Given the description of an element on the screen output the (x, y) to click on. 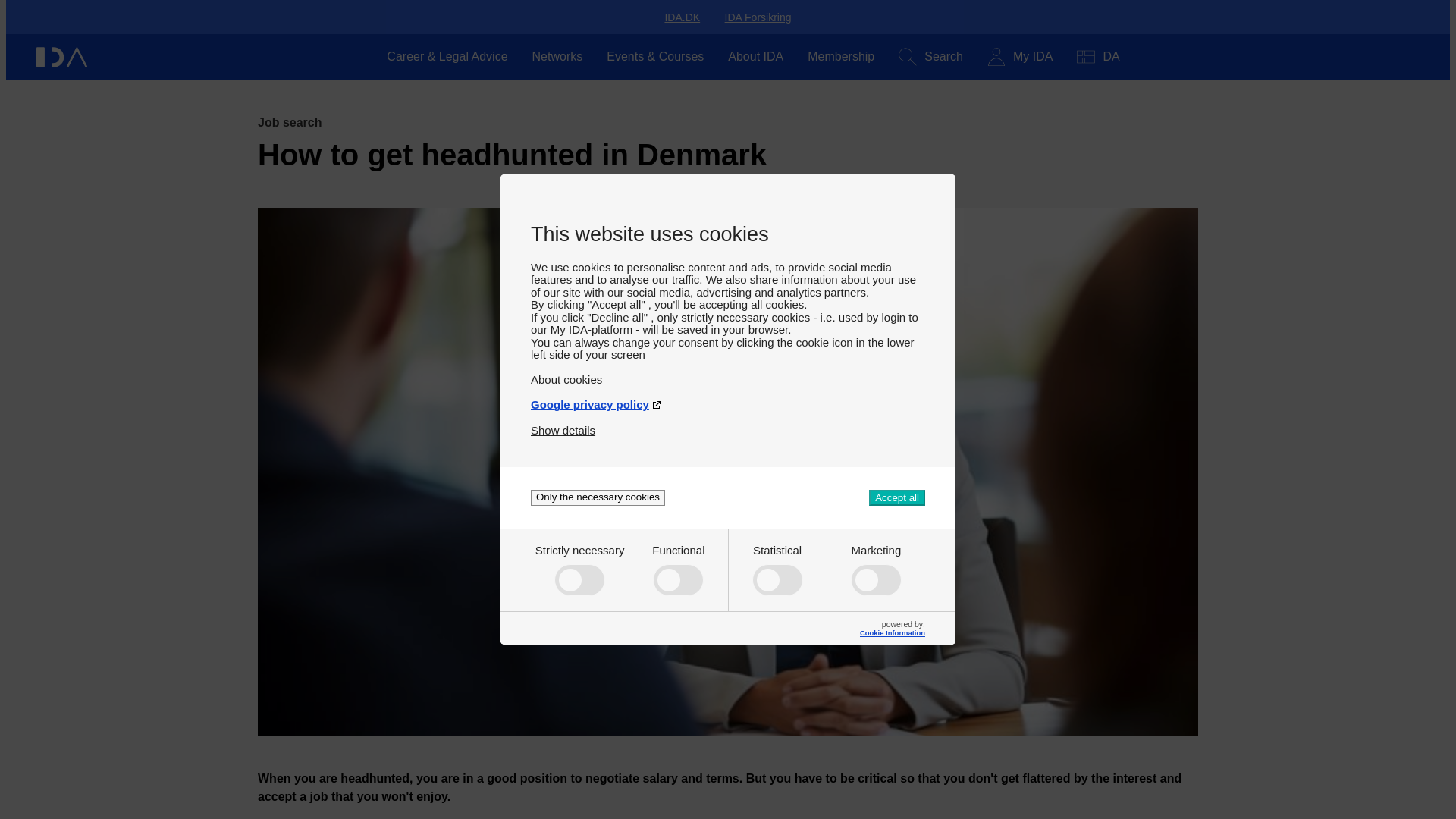
Google privacy policy (727, 398)
Show details (563, 423)
About cookies (727, 373)
